Given the description of an element on the screen output the (x, y) to click on. 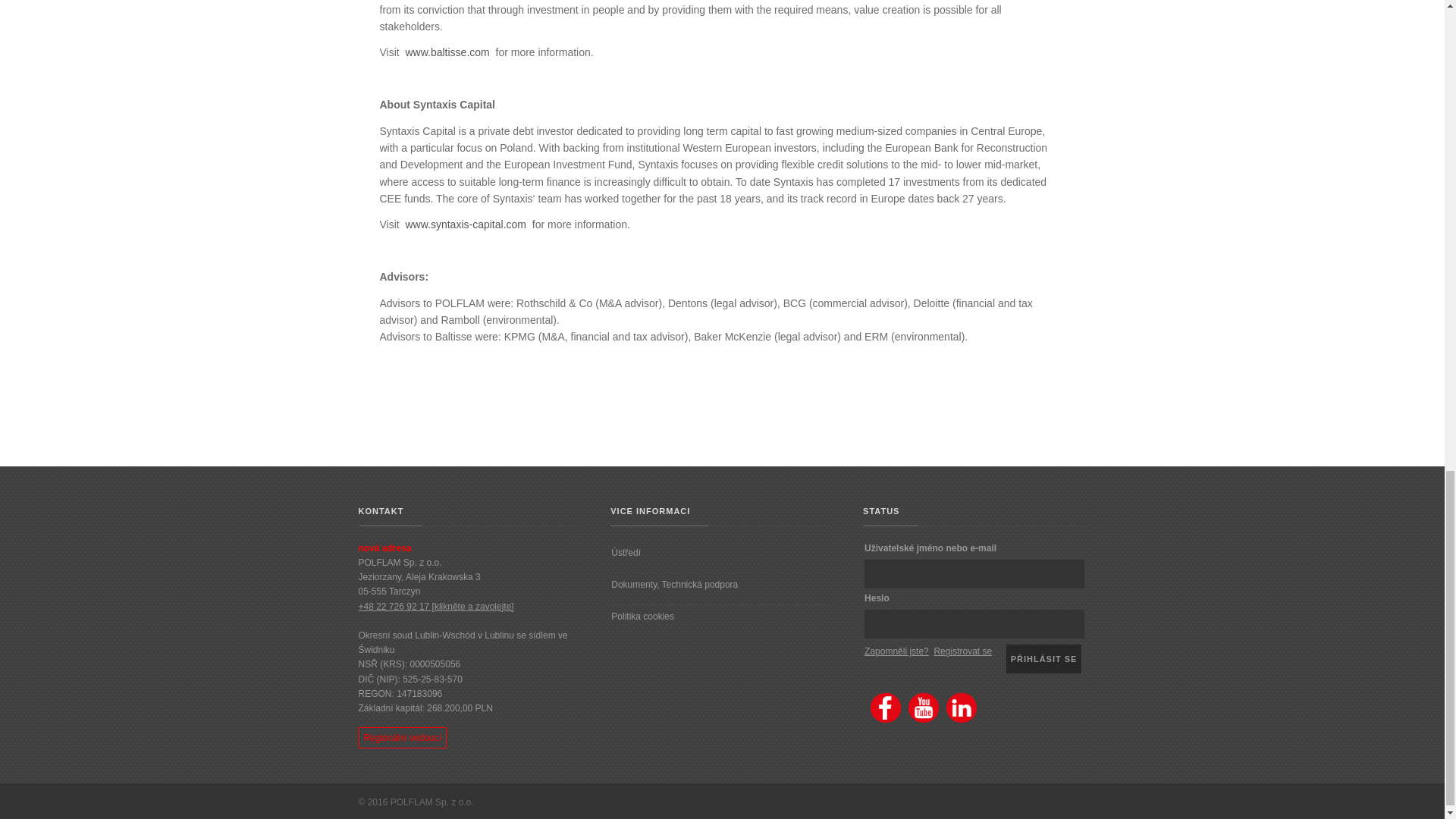
Registrovat se (962, 651)
www.syntaxis-capital.com (464, 224)
Politika cookies (642, 615)
www.baltisse.com (446, 51)
